Given the description of an element on the screen output the (x, y) to click on. 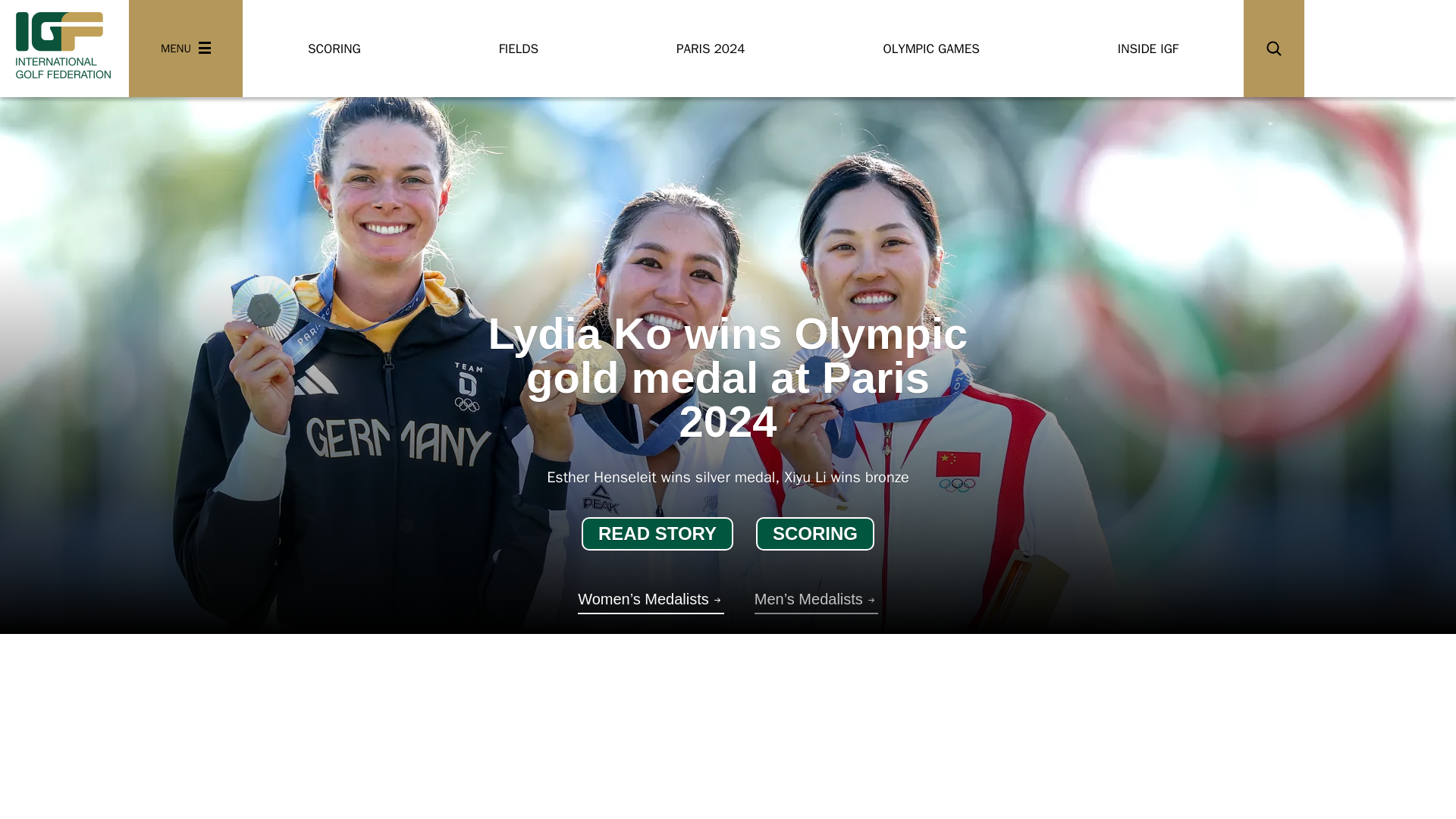
SCORING (815, 533)
SCORING (815, 533)
SCORING (334, 48)
READ STORY (656, 533)
READ STORY (656, 533)
FIELDS (518, 48)
OLYMPIC GAMES (929, 48)
PARIS 2024 (710, 48)
INSIDE IGF (1147, 48)
